Given the description of an element on the screen output the (x, y) to click on. 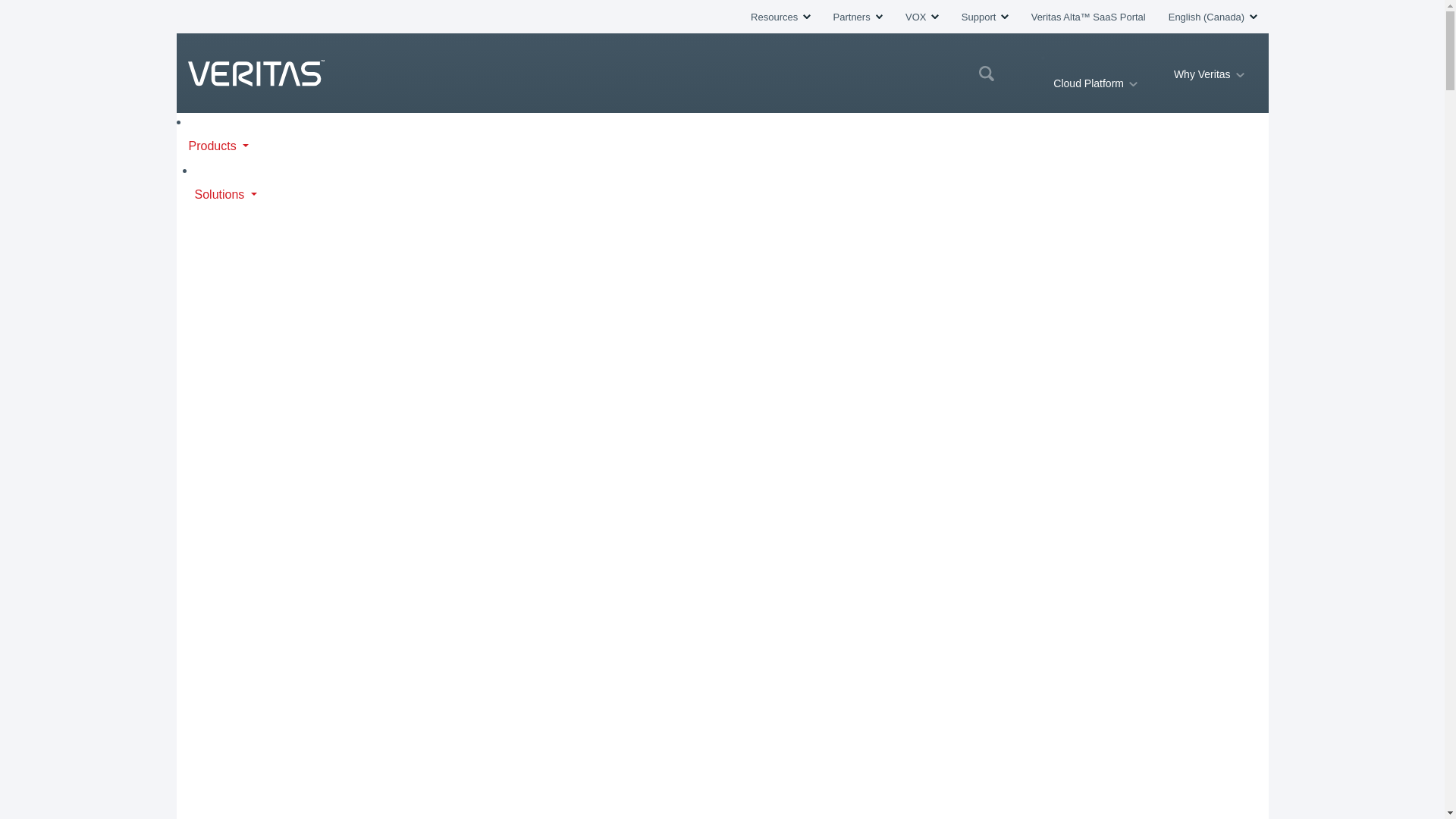
VOX (922, 16)
Support (984, 16)
Resources (780, 16)
Partners (857, 16)
